Given the description of an element on the screen output the (x, y) to click on. 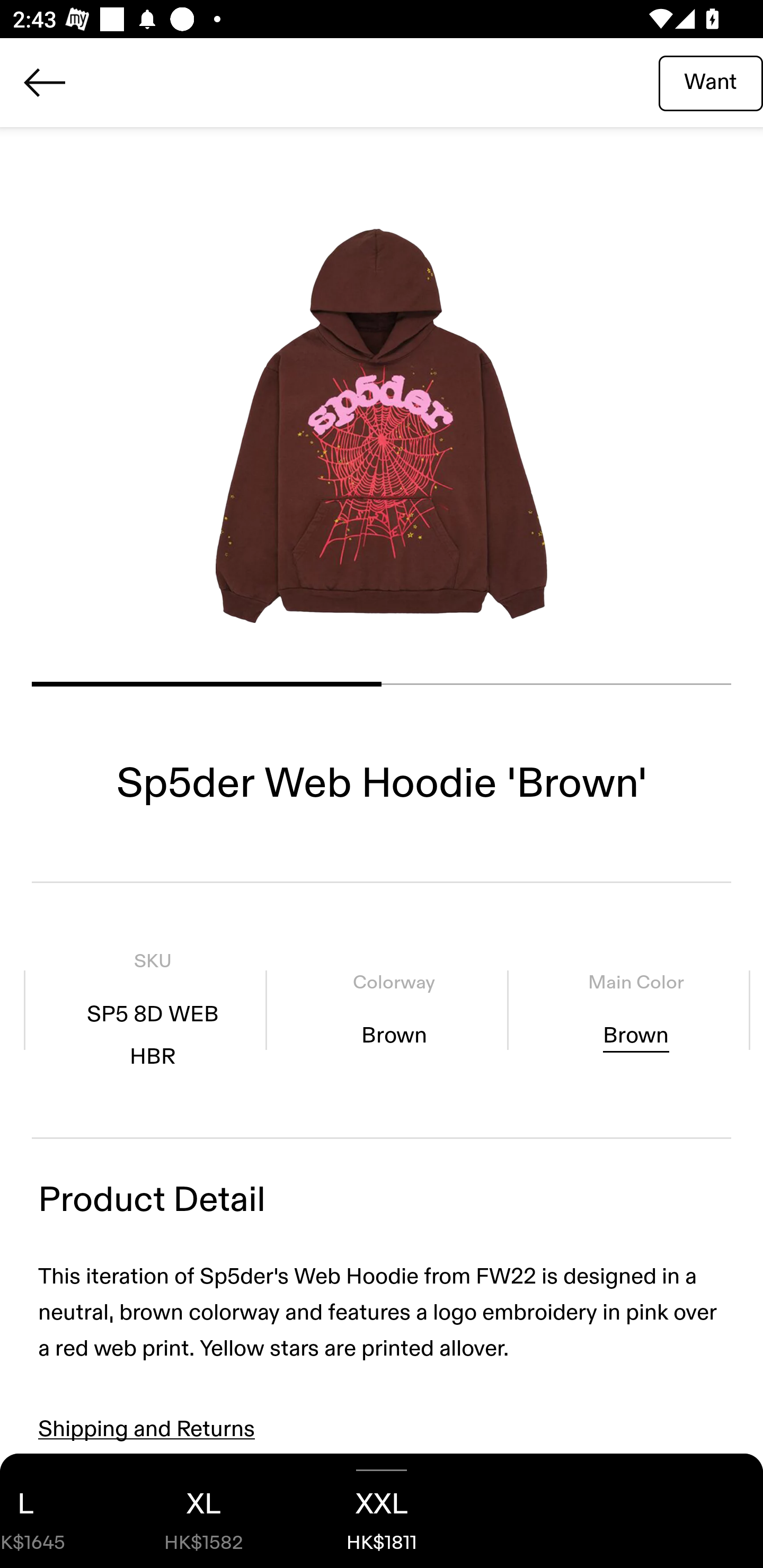
Want (710, 82)
SKU SP5 8D WEB HBR (152, 1009)
Colorway Brown (394, 1009)
Main Color Brown (635, 1009)
Shipping and Returns (146, 1429)
L HK$1645 (57, 1510)
XL HK$1582 (203, 1510)
XXL HK$1811 (381, 1510)
